Given the description of an element on the screen output the (x, y) to click on. 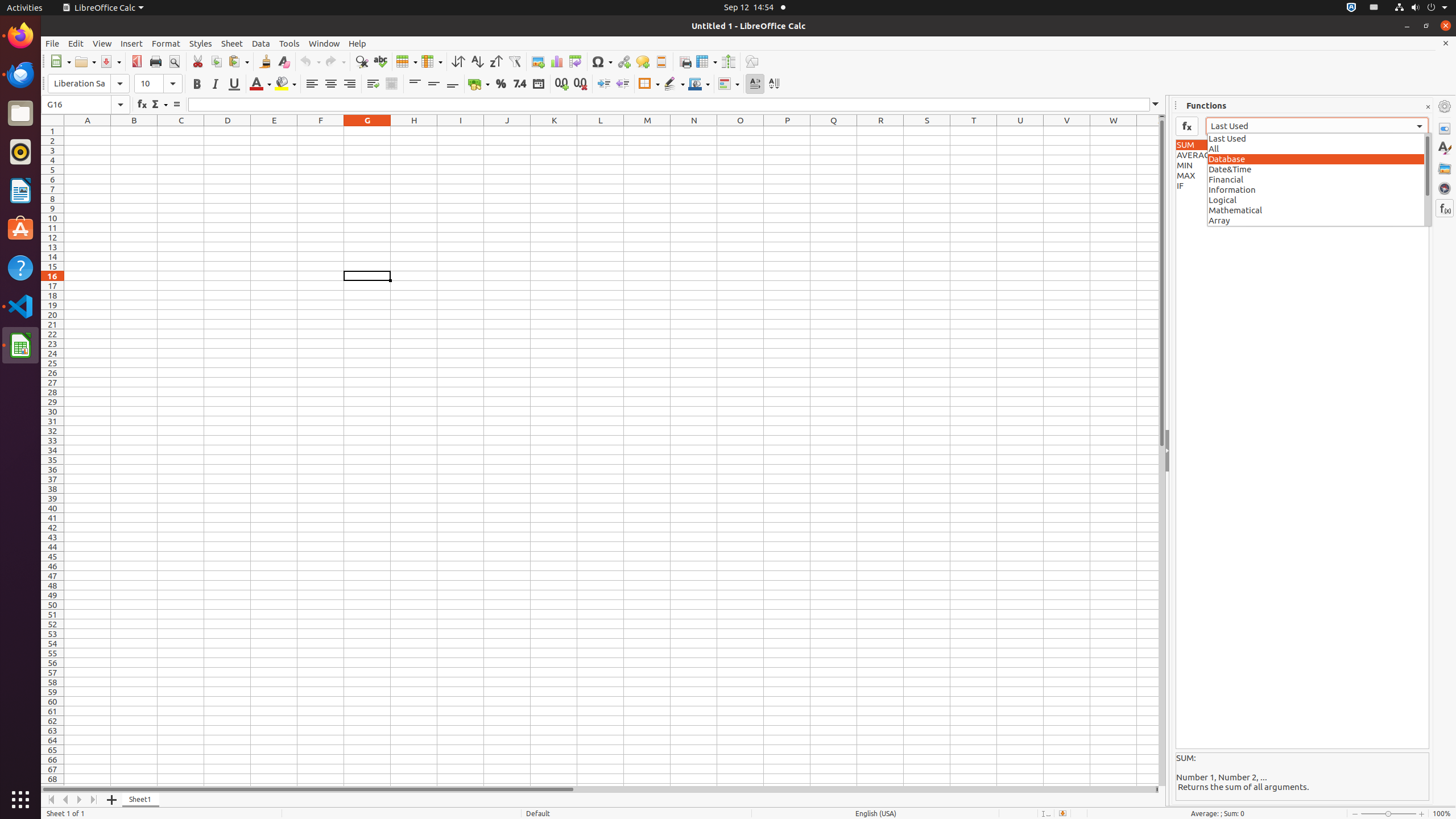
R1 Element type: table-cell (880, 130)
Currency Element type: push-button (478, 83)
G1 Element type: table-cell (367, 130)
P1 Element type: table-cell (786, 130)
Add Decimal Place Element type: push-button (561, 83)
